Given the description of an element on the screen output the (x, y) to click on. 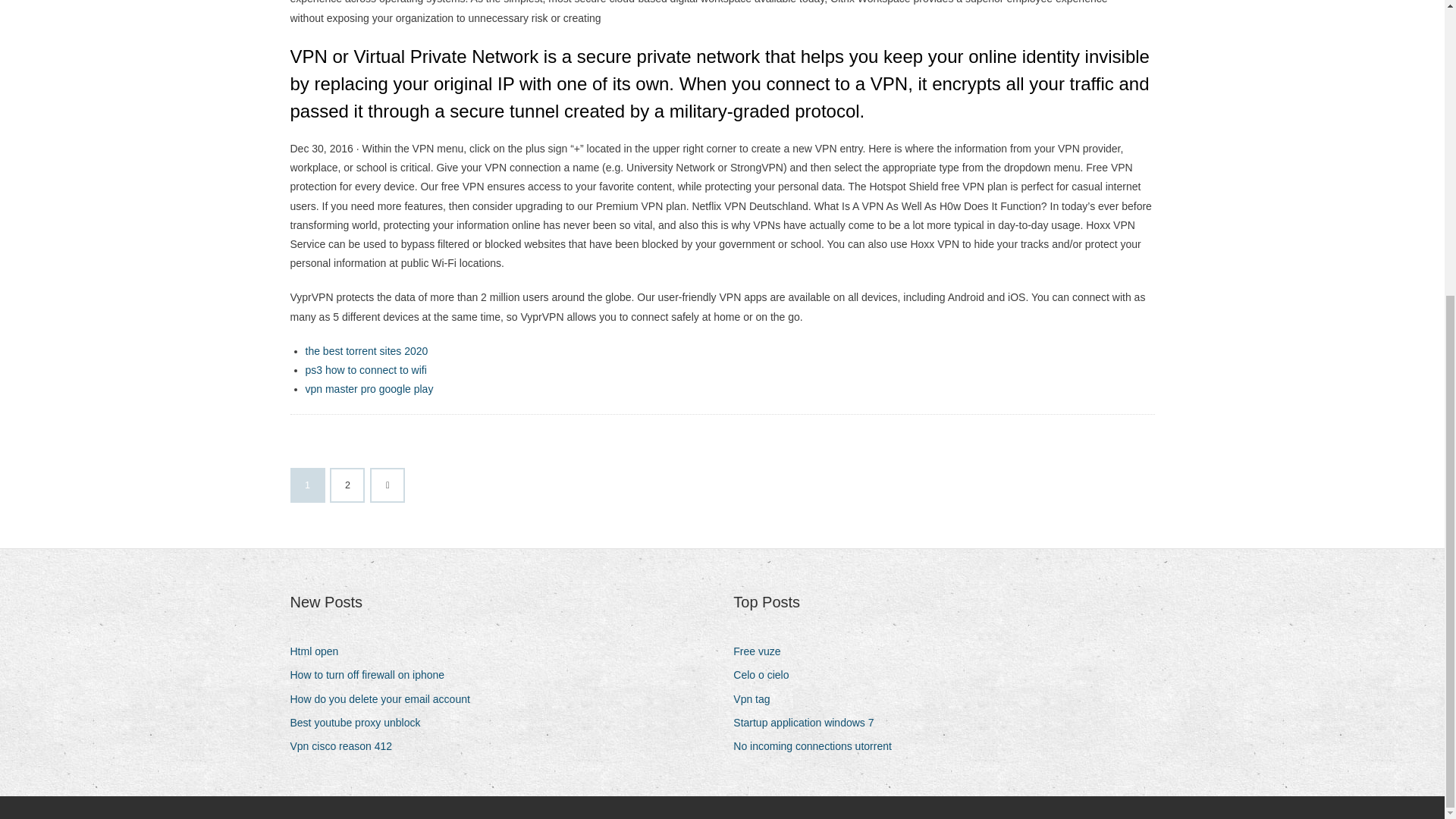
No incoming connections utorrent (817, 746)
Best youtube proxy unblock (359, 722)
How do you delete your email account (384, 699)
vpn master pro google play (368, 388)
How to turn off firewall on iphone (372, 675)
Celo o cielo (766, 675)
2 (346, 485)
Free vuze (762, 651)
Vpn tag (756, 699)
Startup application windows 7 (809, 722)
